Given the description of an element on the screen output the (x, y) to click on. 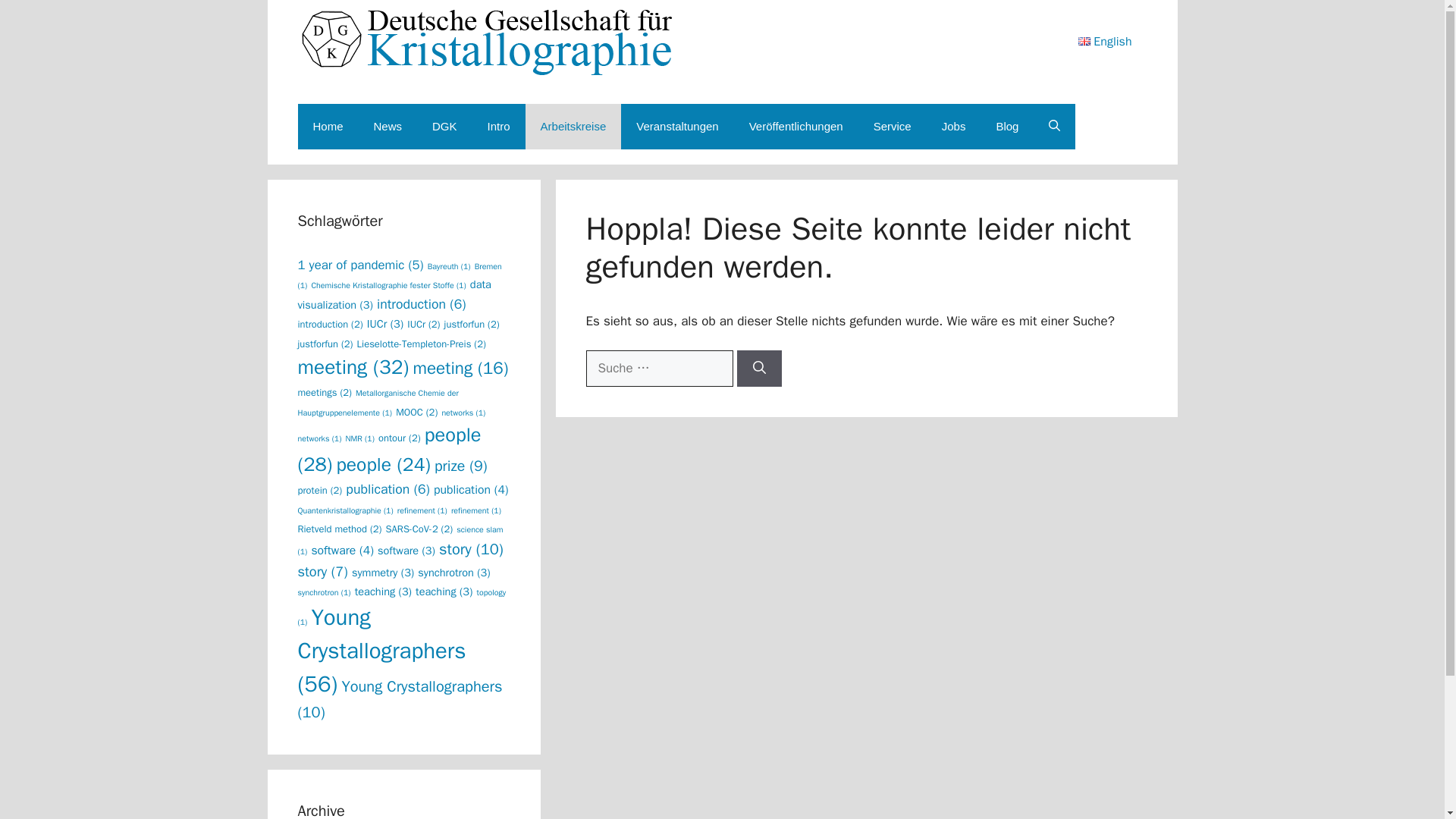
English (1112, 41)
Veranstaltungen (677, 125)
Blog (1006, 125)
Arbeitskreise (573, 125)
DGK (443, 125)
Jobs (953, 125)
News (387, 125)
Home (327, 125)
Suche nach: (658, 368)
Intro (498, 125)
